Given the description of an element on the screen output the (x, y) to click on. 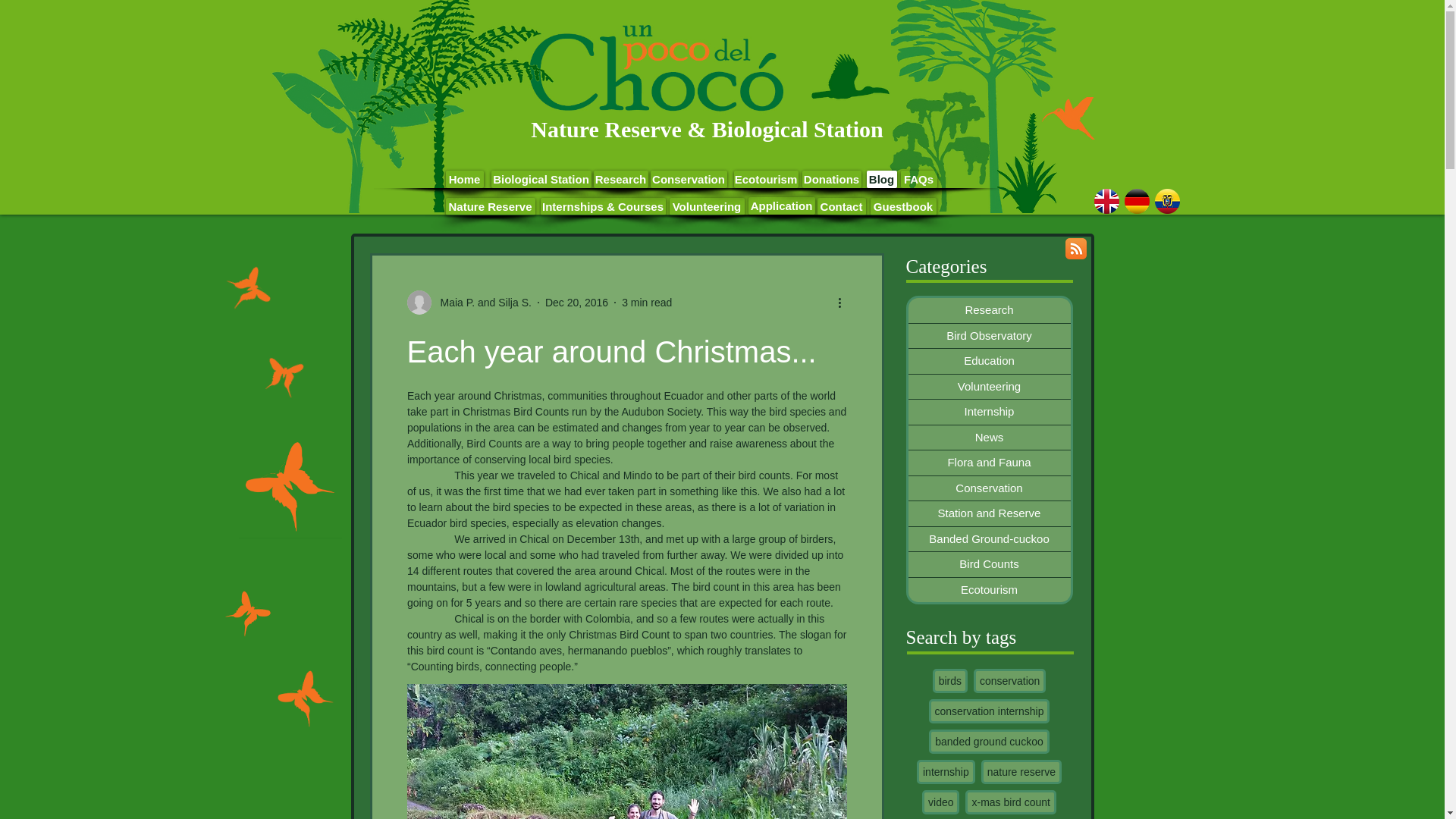
Biological Station (541, 179)
FAQs (919, 179)
Guestbook (903, 206)
Maia P. and Silja S. (480, 302)
Nature Reserve (490, 206)
Application (780, 205)
Research (989, 310)
Research (619, 179)
Blog (881, 179)
3 min read (646, 301)
